Given the description of an element on the screen output the (x, y) to click on. 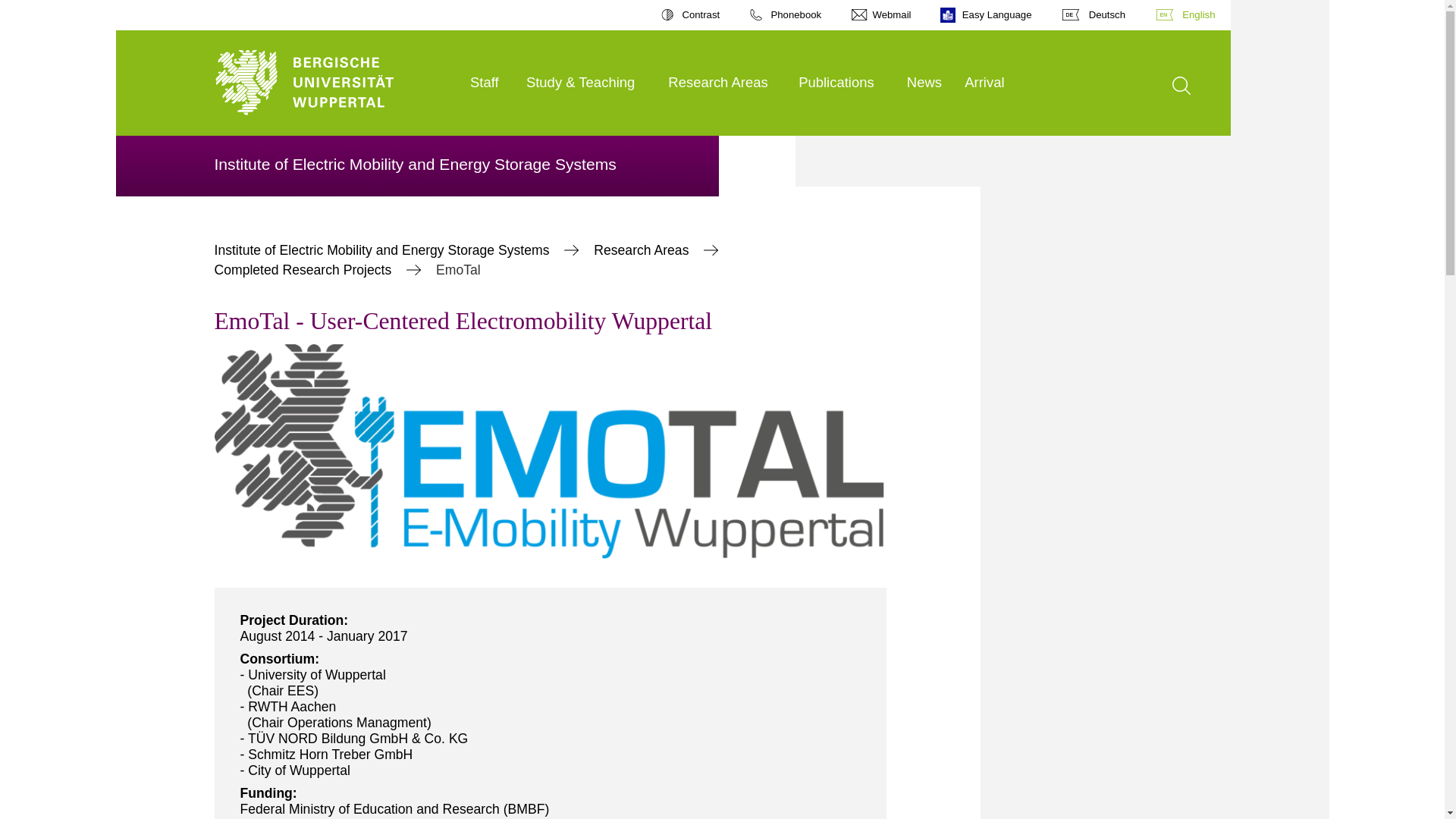
Easy Language (987, 15)
go to front page (334, 82)
Contrast (690, 15)
Deutsch (1093, 15)
Staff (488, 83)
Deutsch (1093, 15)
Phonebook (785, 15)
Webmail (881, 15)
